Given the description of an element on the screen output the (x, y) to click on. 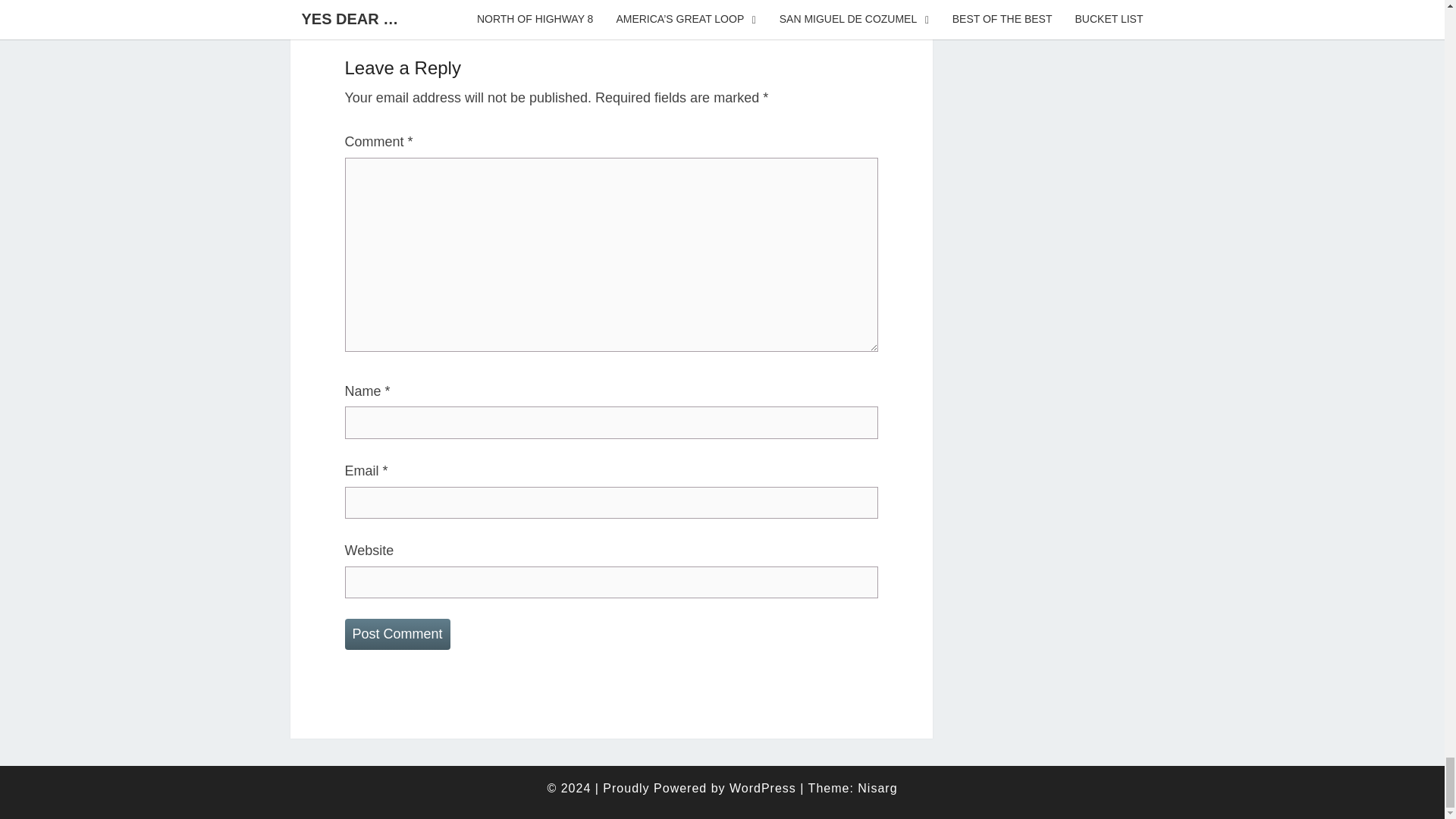
Post Comment (396, 634)
